Given the description of an element on the screen output the (x, y) to click on. 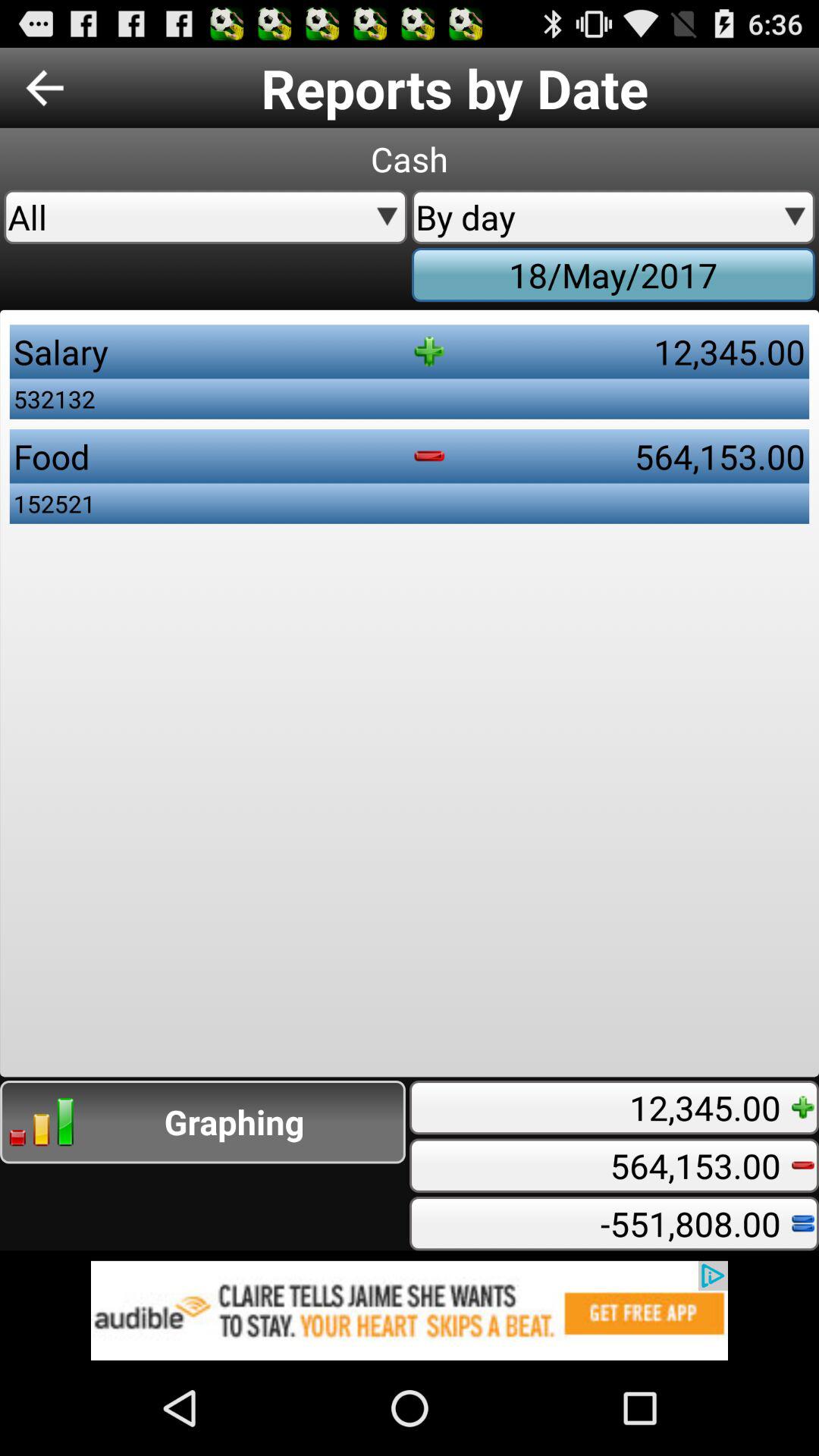
advertisent page (409, 1310)
